Given the description of an element on the screen output the (x, y) to click on. 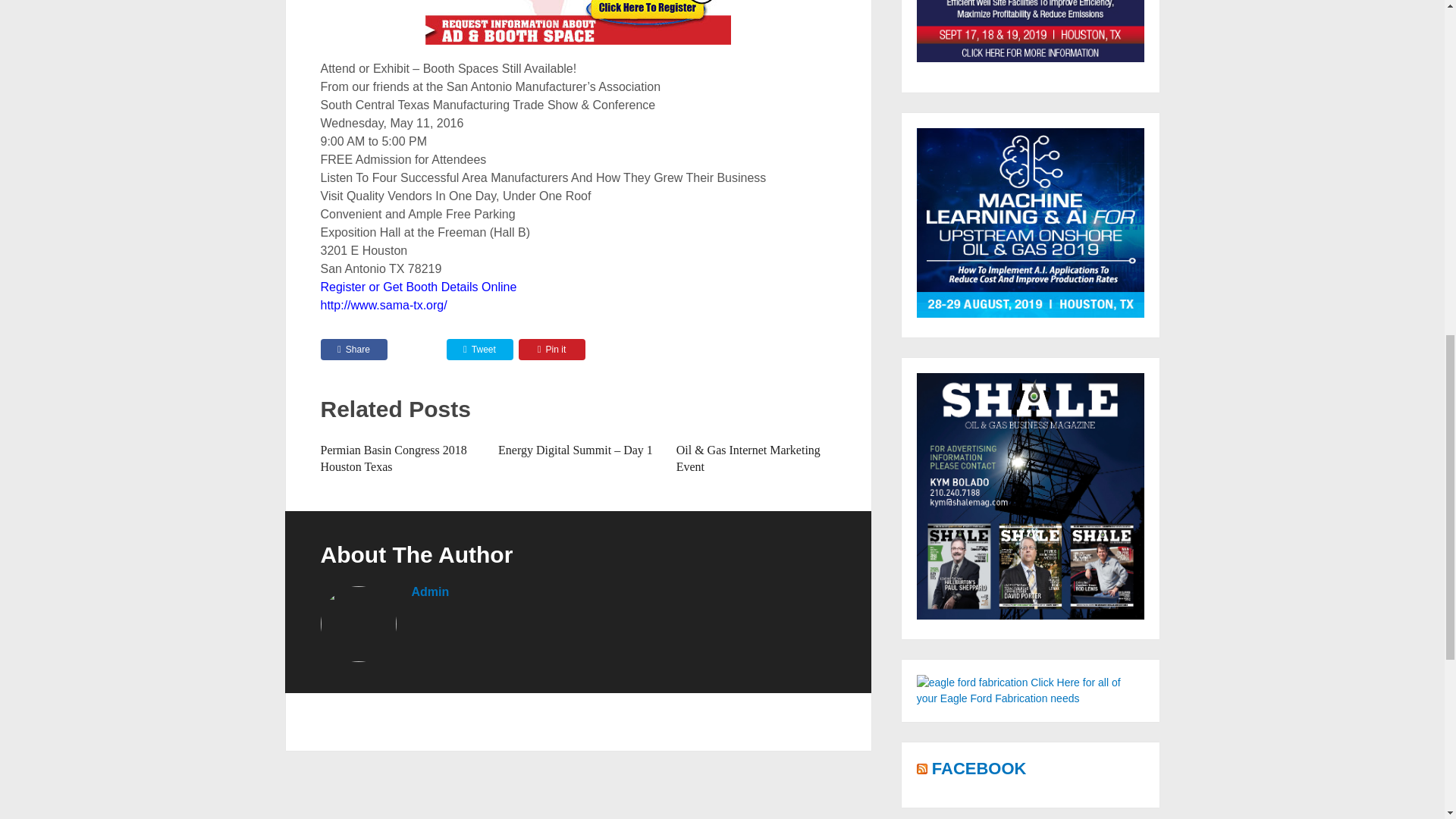
Pin it (551, 349)
Permian Basin Congress 2018 Houston Texas (392, 458)
Share (353, 349)
Register or Get Booth Details Online (418, 286)
Admin (429, 591)
Tweet (478, 349)
Permian Basin Congress 2018 Houston Texas (392, 458)
